Given the description of an element on the screen output the (x, y) to click on. 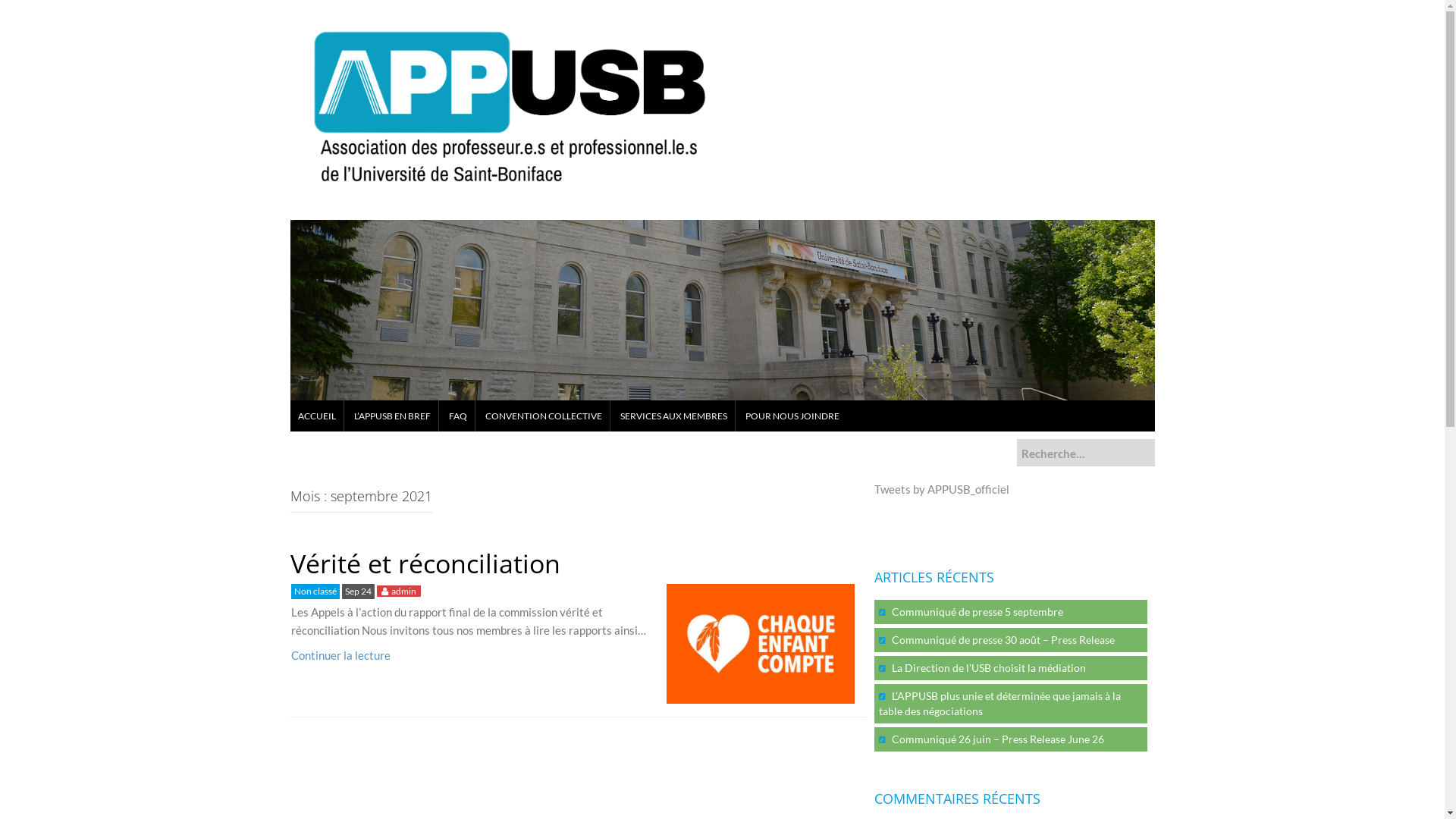
Sep 24 Element type: text (357, 590)
Tweets by APPUSB_officiel Element type: text (940, 488)
Rechercher Element type: text (33, 9)
Continuer la lecture Element type: text (340, 655)
ACCUEIL Element type: text (315, 415)
CONVENTION COLLECTIVE Element type: text (543, 415)
admin Element type: text (403, 590)
POUR NOUS JOINDRE Element type: text (791, 415)
SERVICES AUX MEMBRES Element type: text (673, 415)
FAQ Element type: text (457, 415)
